Given the description of an element on the screen output the (x, y) to click on. 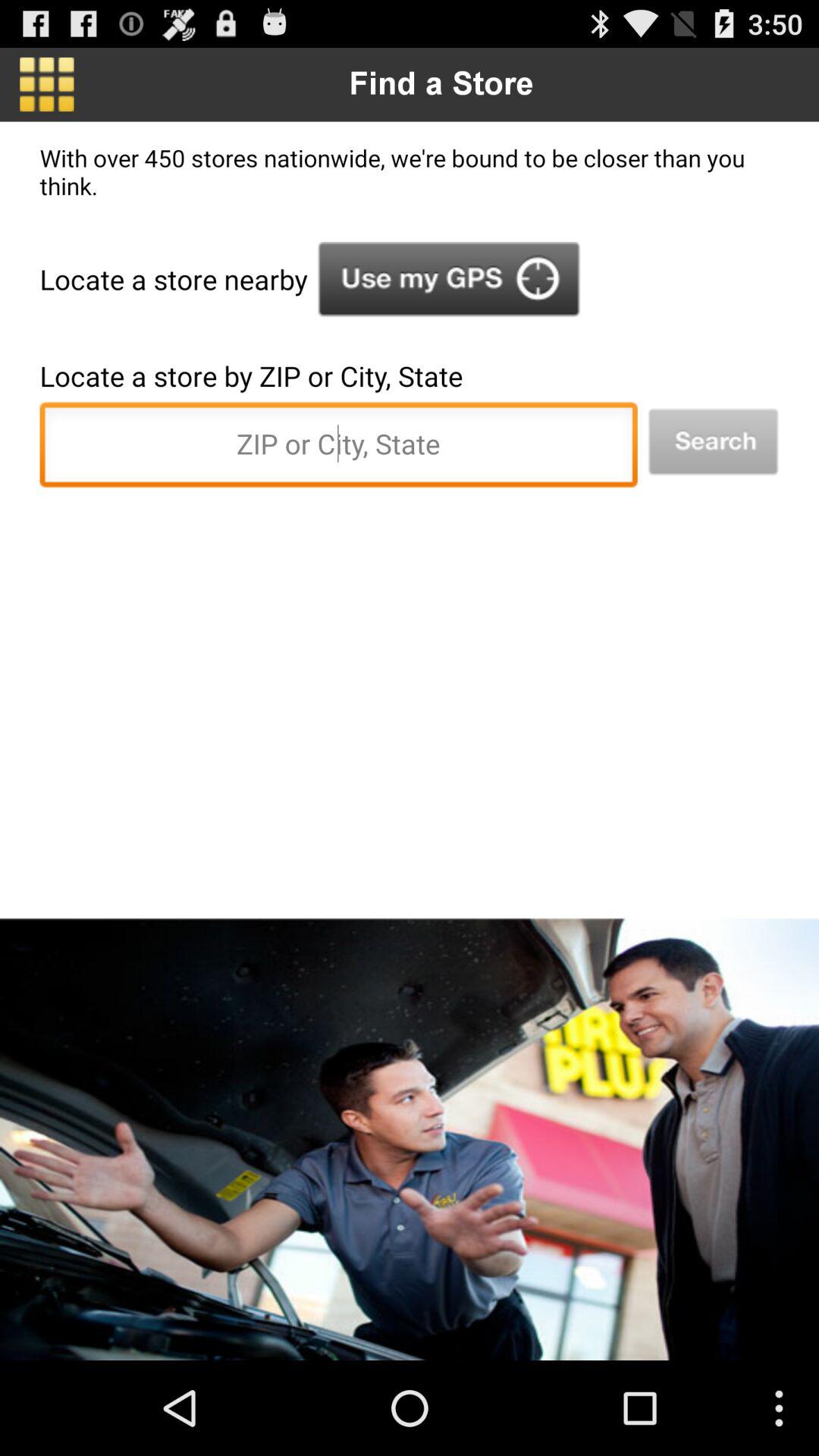
turn on gps (448, 279)
